Given the description of an element on the screen output the (x, y) to click on. 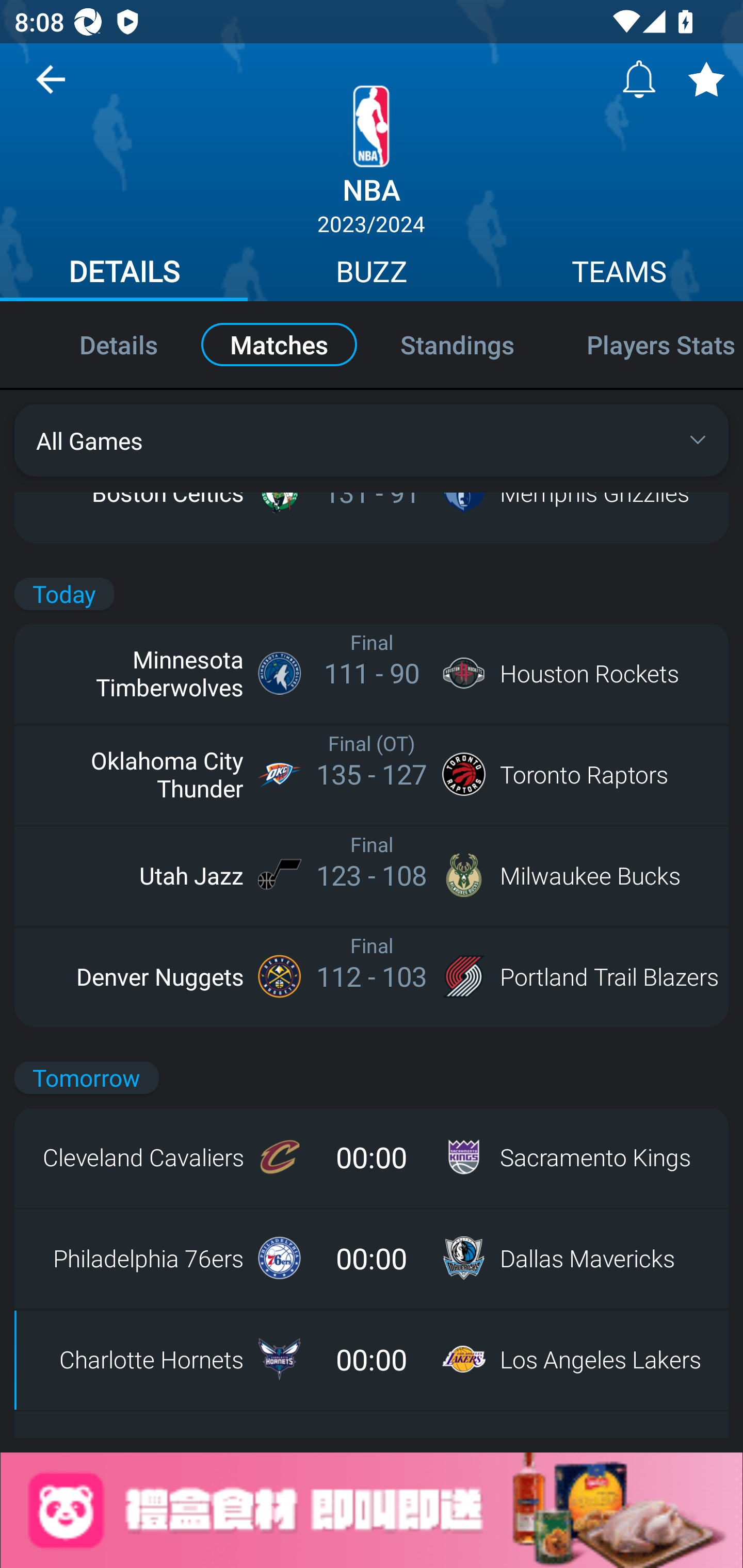
Navigate up (50, 86)
DETAILS (123, 274)
BUZZ (371, 274)
TEAMS (619, 274)
Details (96, 344)
Standings (457, 344)
Players Stats (646, 344)
All Games (371, 440)
Utah Jazz Final 123 - 108 Milwaukee Bucks (371, 874)
Cleveland Cavaliers 00:00 Sacramento Kings (371, 1157)
Philadelphia 76ers 00:00 Dallas Mavericks (371, 1258)
Charlotte Hornets 00:00 Los Angeles Lakers (371, 1359)
Advertisement (371, 1509)
